Given the description of an element on the screen output the (x, y) to click on. 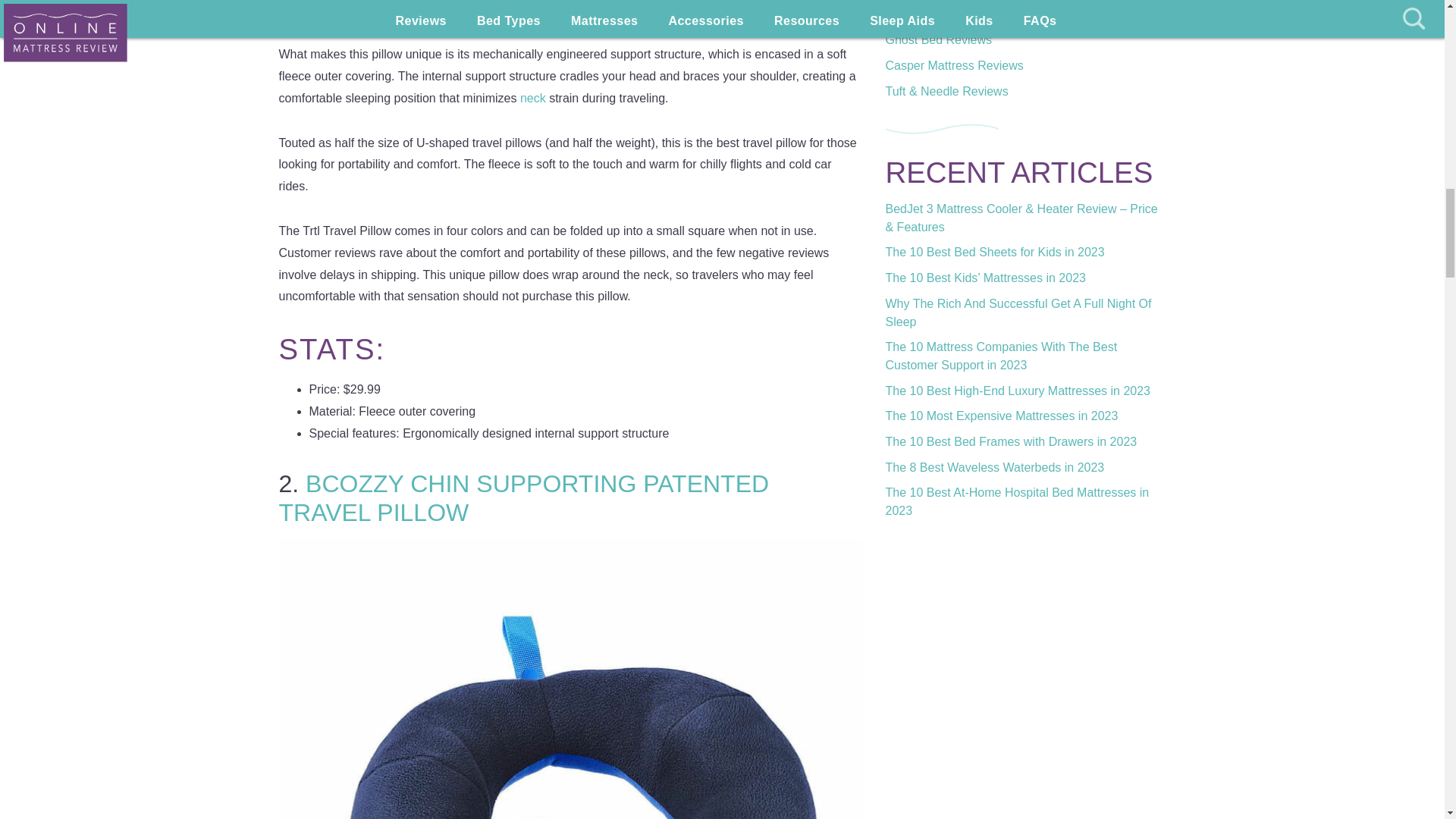
neck (533, 97)
BCOZZY CHIN SUPPORTING PATENTED TRAVEL PILLOW (524, 498)
